Given the description of an element on the screen output the (x, y) to click on. 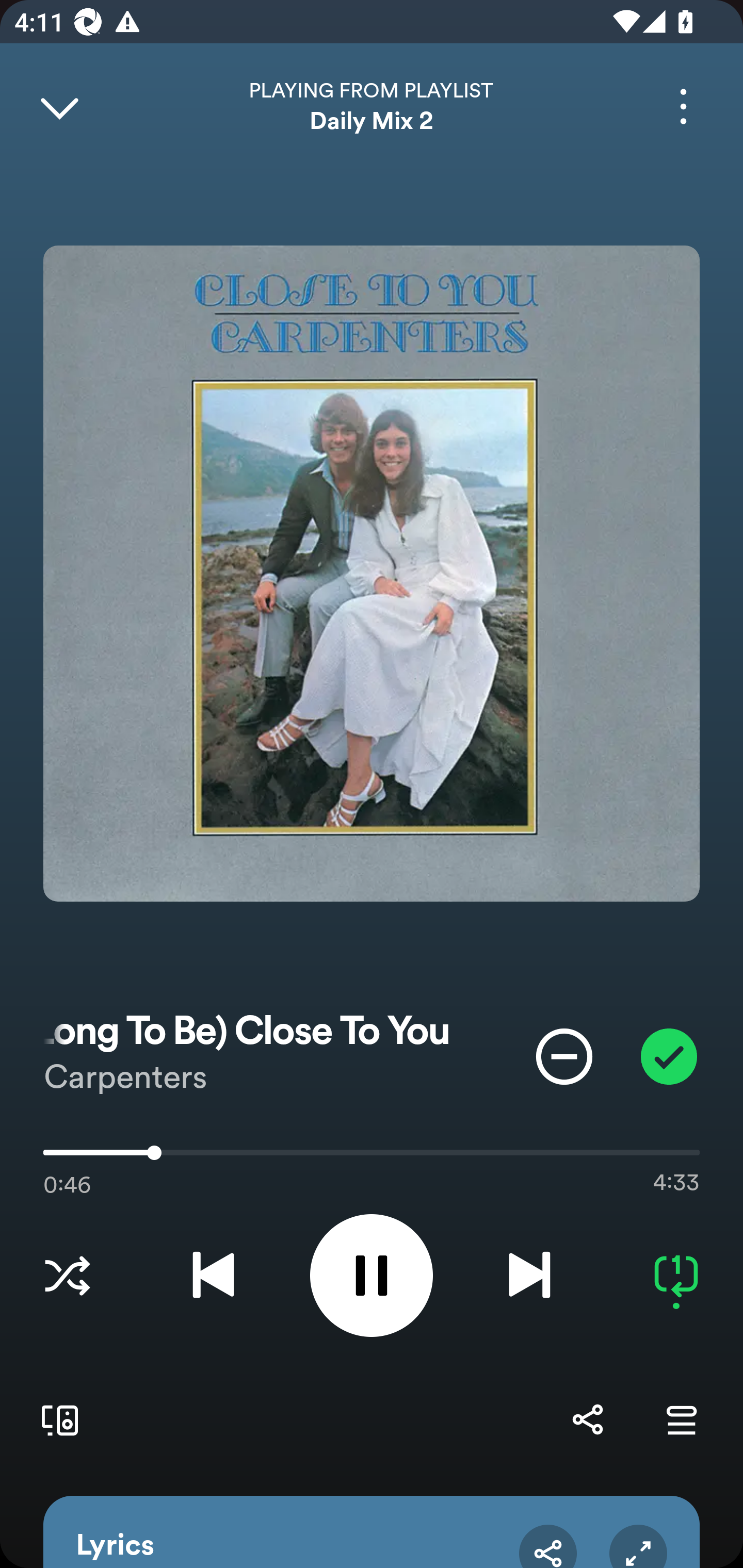
Close (59, 106)
PLAYING FROM PLAYLIST Daily Mix 2 (371, 106)
Don't play this (564, 1056)
Item added (669, 1056)
0:46 4:33 46070.0 Use volume keys to adjust (371, 1157)
Pause (371, 1275)
Previous (212, 1275)
Next (529, 1275)
Shuffle tracks (66, 1275)
Repeat (676, 1275)
Share (587, 1419)
Go to Queue (681, 1419)
Connect to a device. Opens the devices menu (55, 1419)
Lyrics Share Expand (371, 1531)
Share (547, 1546)
Expand (638, 1546)
